Given the description of an element on the screen output the (x, y) to click on. 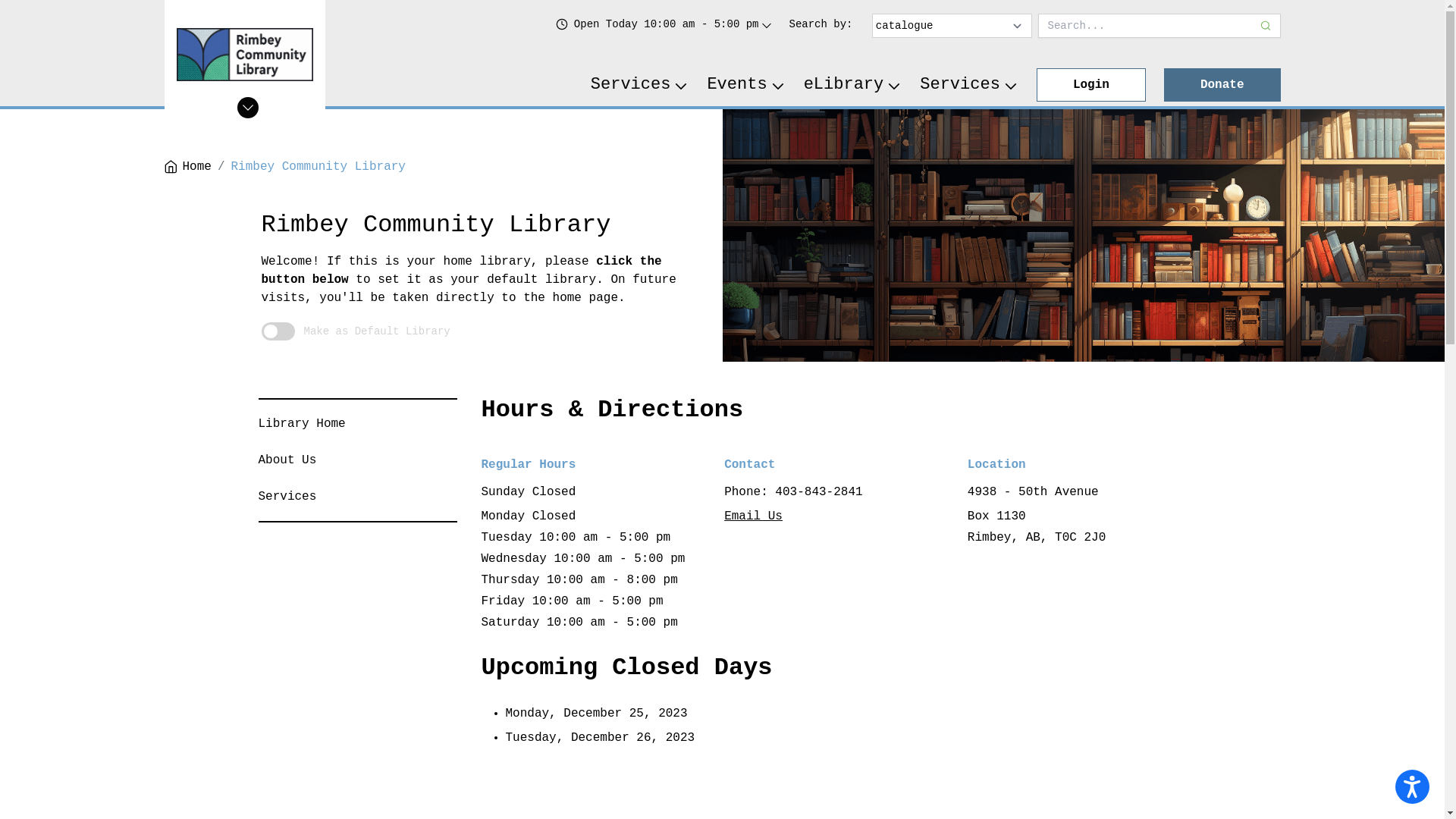
Services Element type: text (968, 84)
Login Element type: text (1090, 84)
About Us Element type: text (286, 460)
Donate Element type: text (1222, 84)
Events Element type: text (745, 84)
Rimbey Community Library Element type: text (318, 166)
Email Us Element type: text (753, 516)
Services Element type: text (286, 496)
Library Home Element type: text (301, 423)
Home Element type: text (186, 166)
eLibrary Element type: text (852, 84)
Services Element type: text (639, 84)
